Given the description of an element on the screen output the (x, y) to click on. 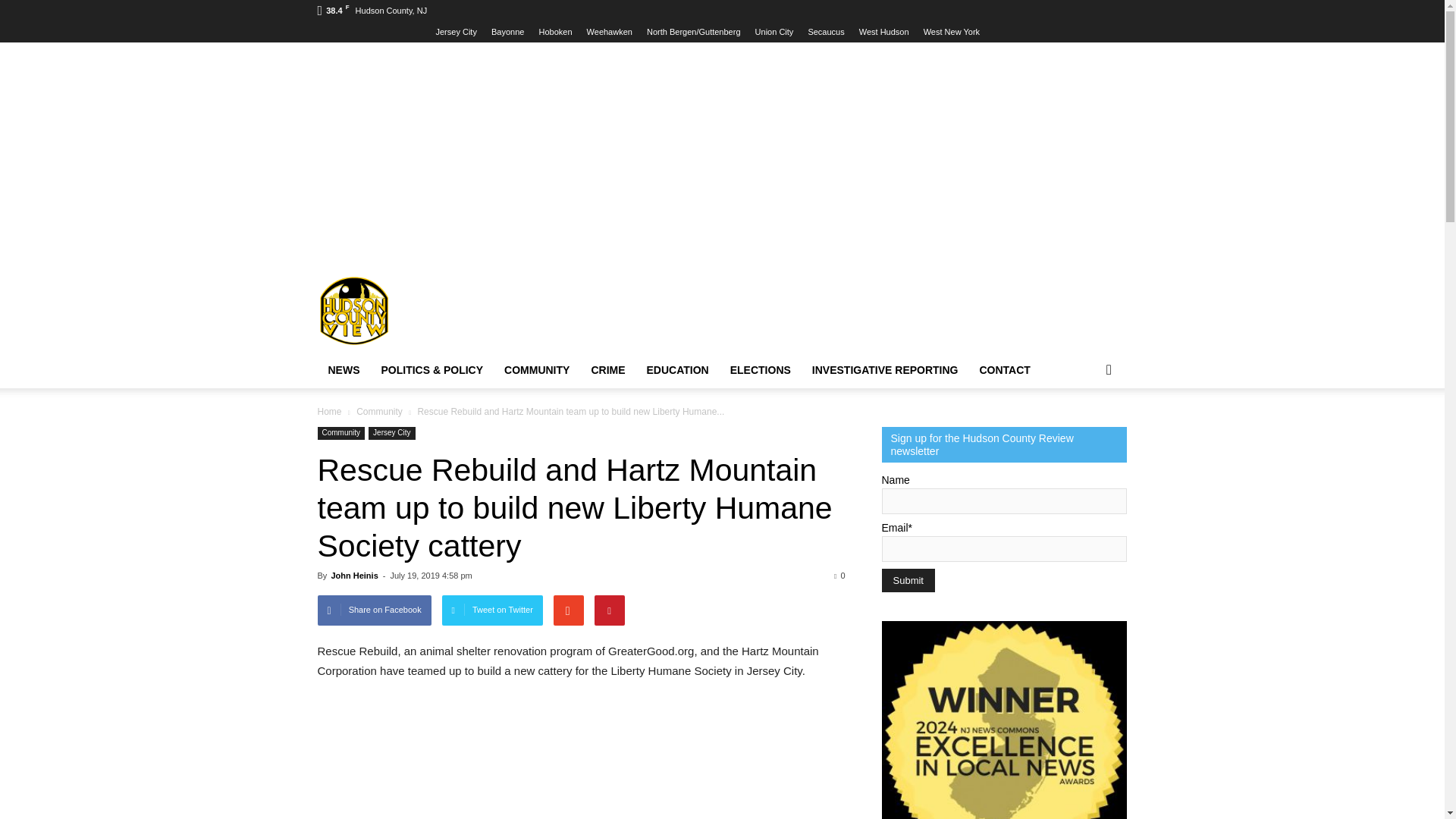
Submit (907, 580)
Union City (774, 31)
Secaucus (826, 31)
EDUCATION (677, 370)
INVESTIGATIVE REPORTING (885, 370)
CRIME (606, 370)
Jersey City (455, 31)
NEWS (343, 370)
COMMUNITY (536, 370)
CONTACT (1005, 370)
View all posts in Community (380, 411)
Weehawken (608, 31)
Hoboken (555, 31)
